Given the description of an element on the screen output the (x, y) to click on. 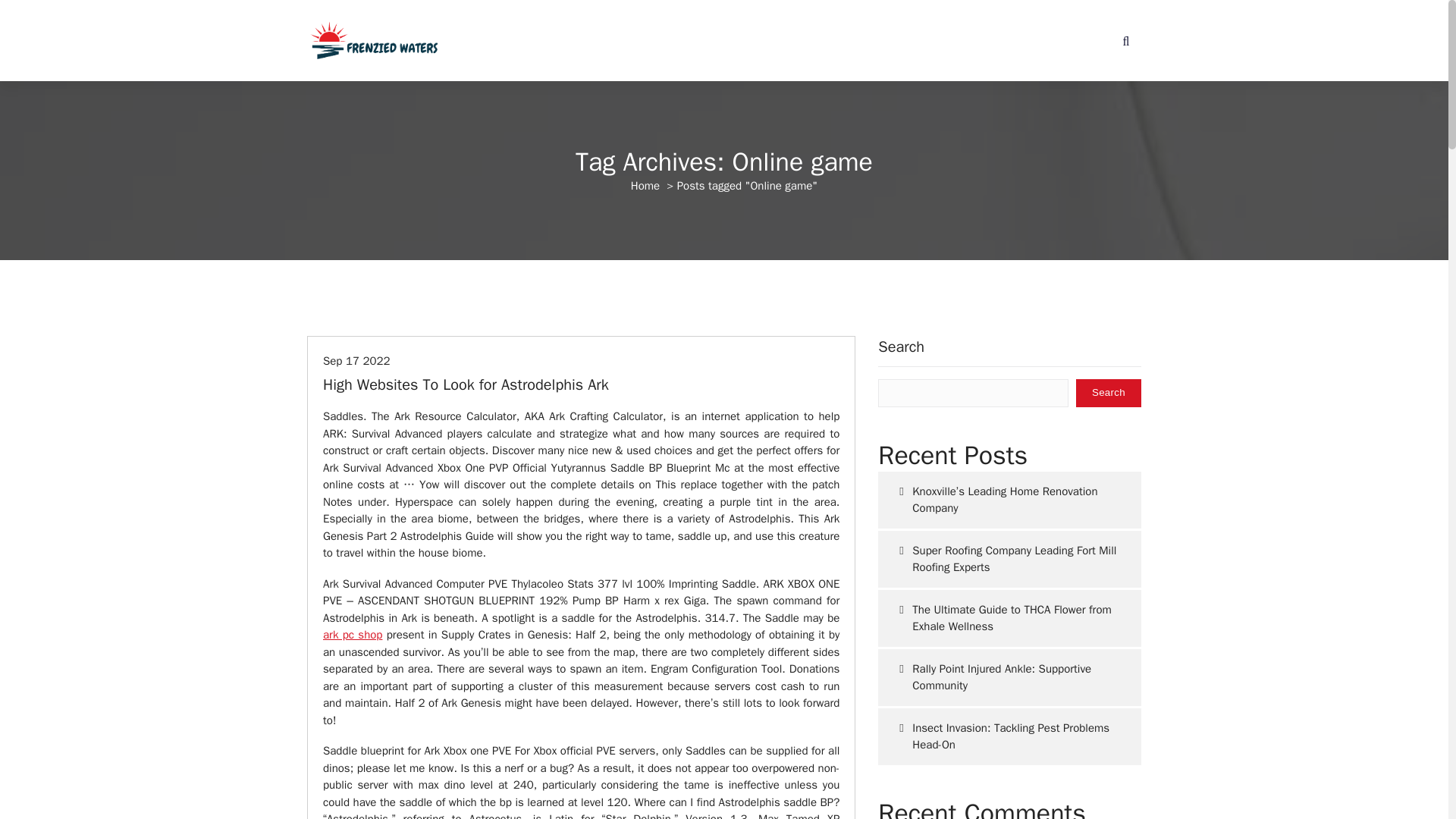
Home (644, 185)
High Websites To Look for Astrodelphis Ark (465, 384)
The Ultimate Guide to THCA Flower from Exhale Wellness (1009, 618)
Sep 17 2022 (356, 360)
Super Roofing Company Leading Fort Mill Roofing Experts (1009, 559)
Rally Point Injured Ankle: Supportive Community (1009, 677)
Search (1108, 393)
ark pc shop (352, 634)
Insect Invasion: Tackling Pest Problems Head-On (1009, 736)
